Given the description of an element on the screen output the (x, y) to click on. 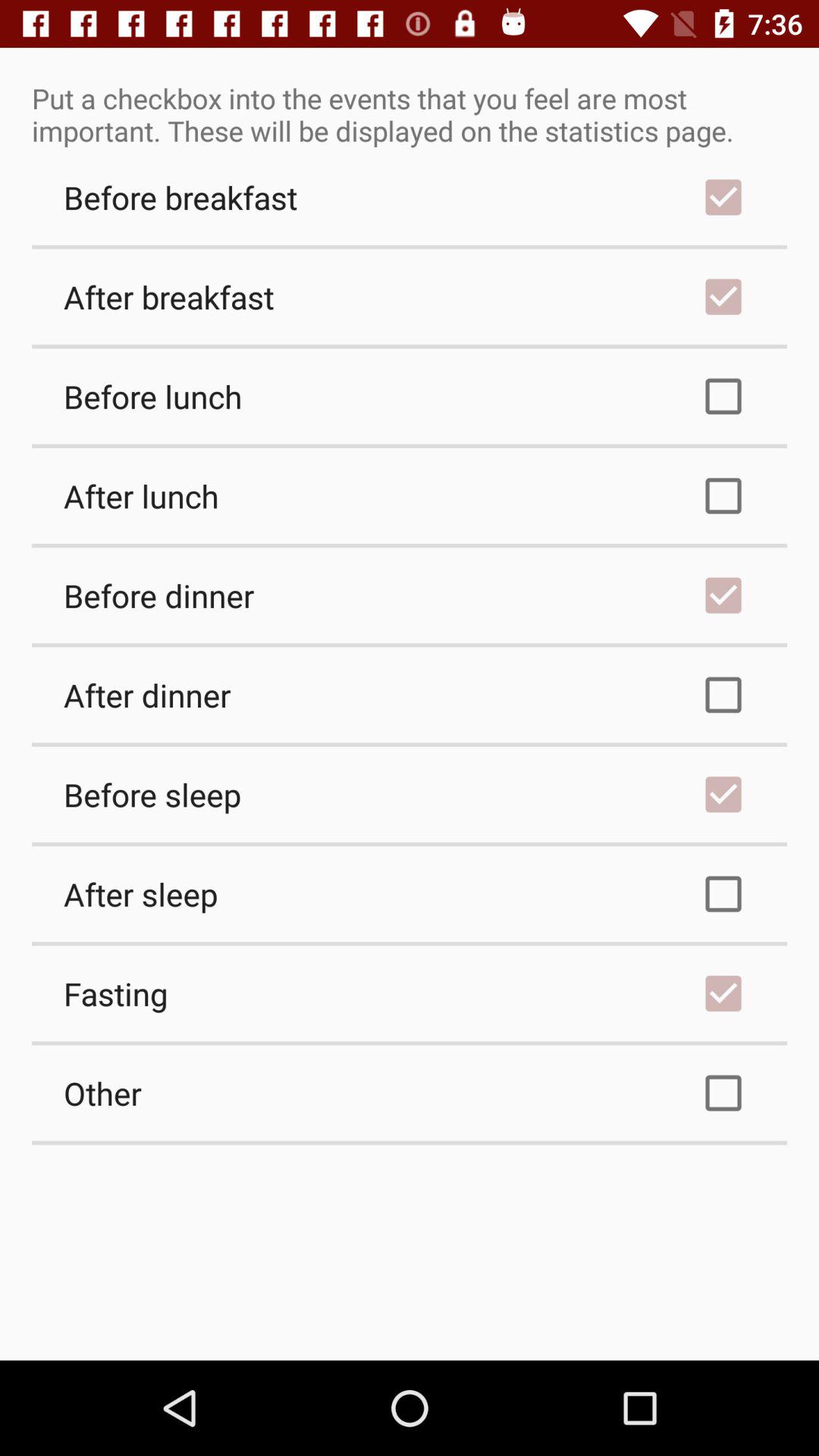
scroll to before dinner item (409, 595)
